Given the description of an element on the screen output the (x, y) to click on. 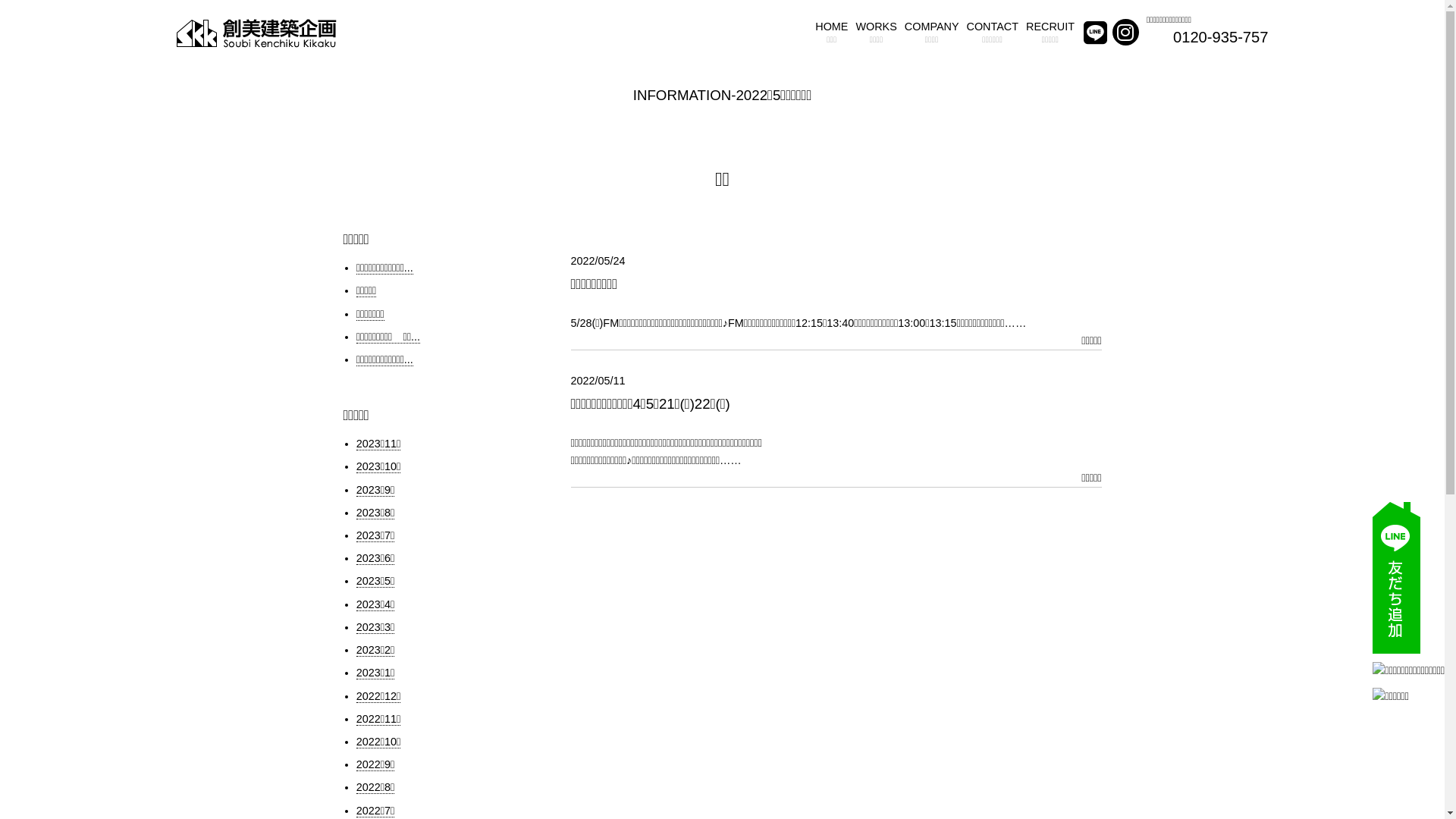
0120-935-757 Element type: text (1220, 36)
